Given the description of an element on the screen output the (x, y) to click on. 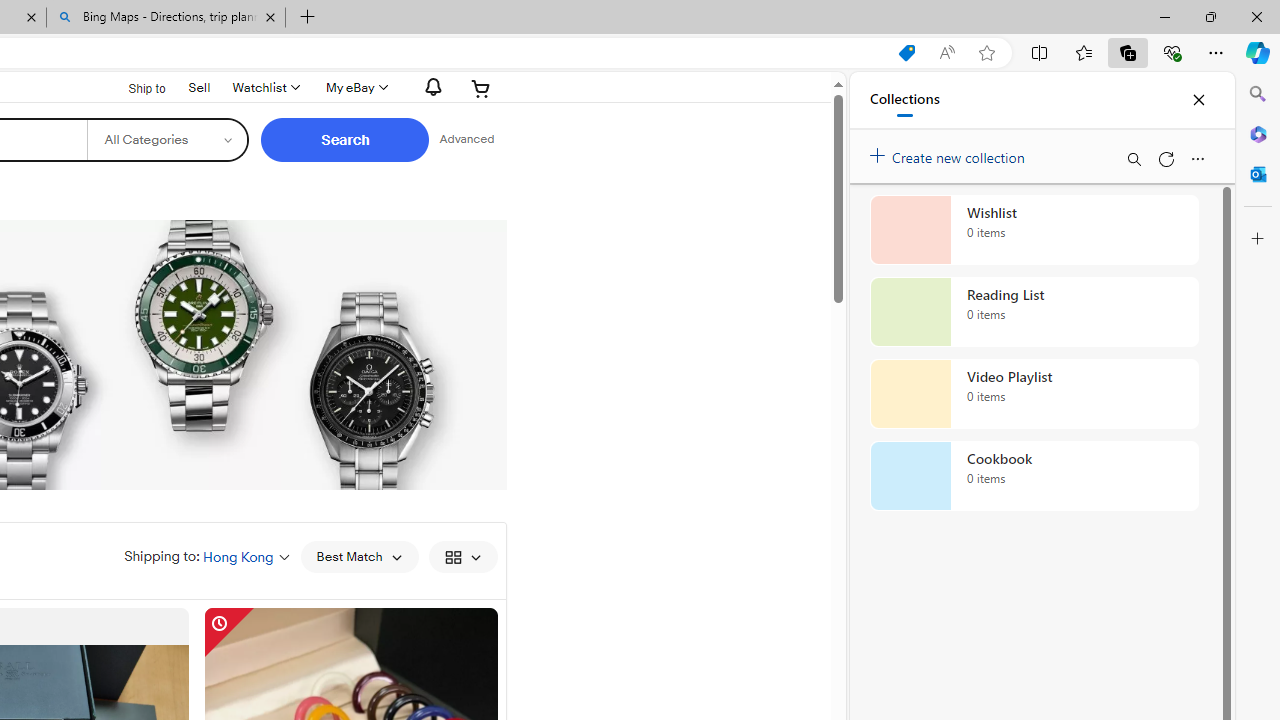
Your shopping cart (481, 88)
Ship to (134, 89)
Sort: Best Match (358, 556)
Reading List collection, 0 items (1034, 312)
My eBay (354, 88)
Wishlist collection, 0 items (1034, 229)
View: Gallery View (462, 556)
Advanced Search (466, 139)
